Given the description of an element on the screen output the (x, y) to click on. 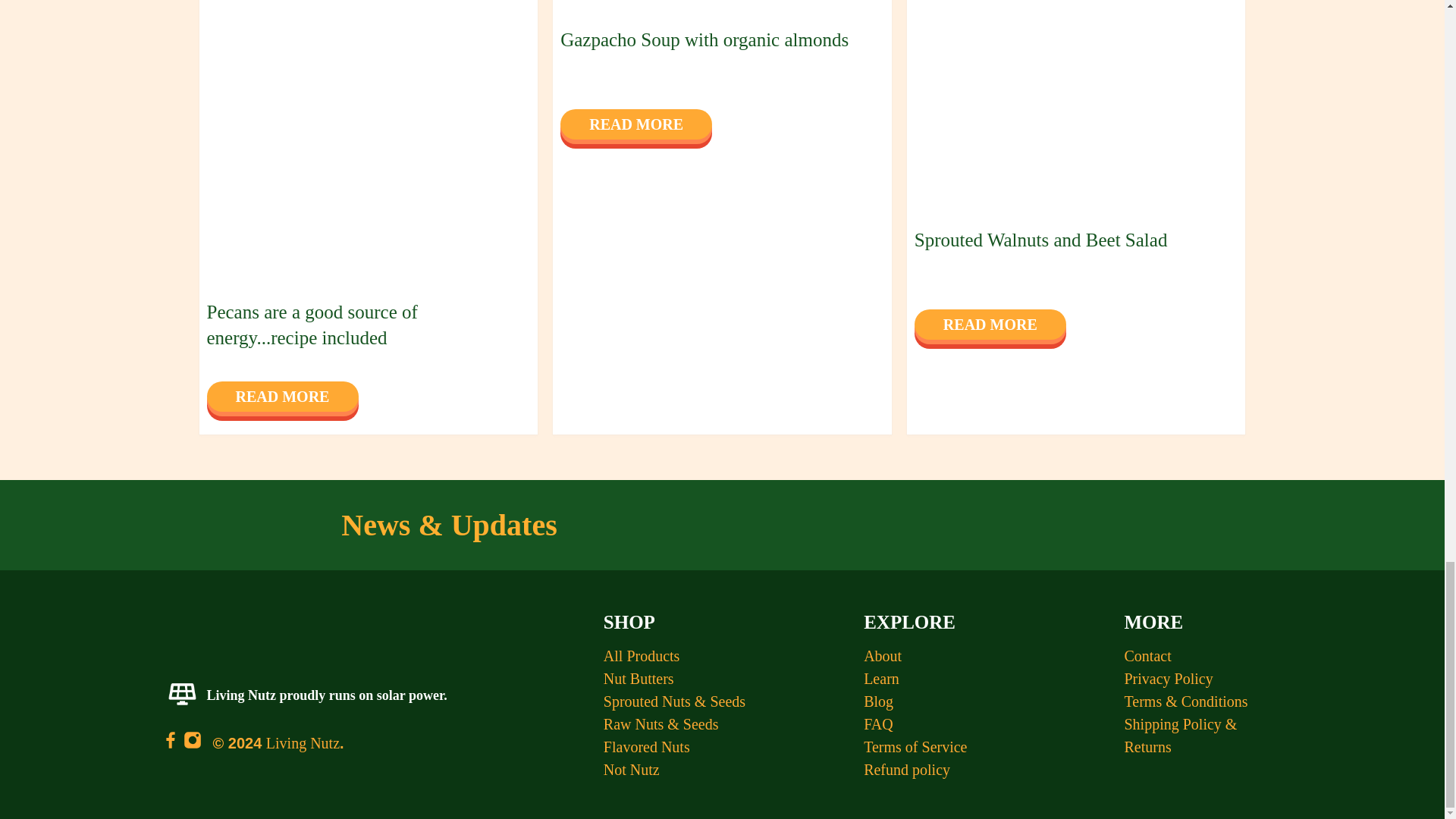
Gazpacho Soup with organic almonds (722, 8)
Living Nutz (302, 742)
Gazpacho Soup with organic almonds (704, 39)
READ MORE (635, 123)
Living Nutz on Facebook (169, 743)
Sprouted Walnuts and Beet Salad (1076, 109)
Living Nutz on Instagram (192, 743)
READ MORE (282, 396)
Pecans are a good source of energy...recipe included (367, 145)
All Products (641, 655)
